Given the description of an element on the screen output the (x, y) to click on. 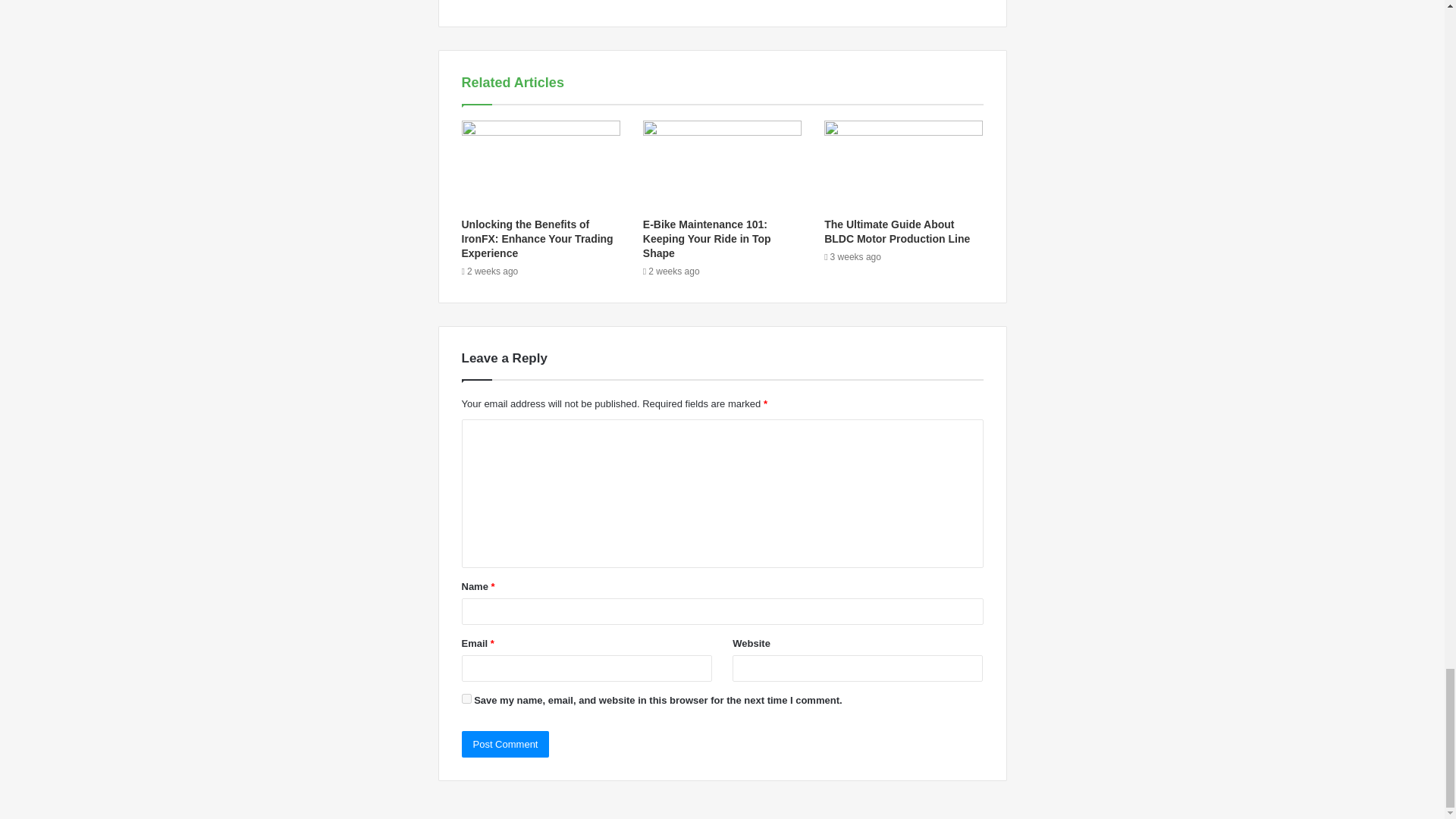
Post Comment (504, 744)
yes (465, 698)
The Ultimate Guide About BLDC Motor Production Line (896, 231)
E-Bike Maintenance 101: Keeping Your Ride in Top Shape (707, 238)
